Given the description of an element on the screen output the (x, y) to click on. 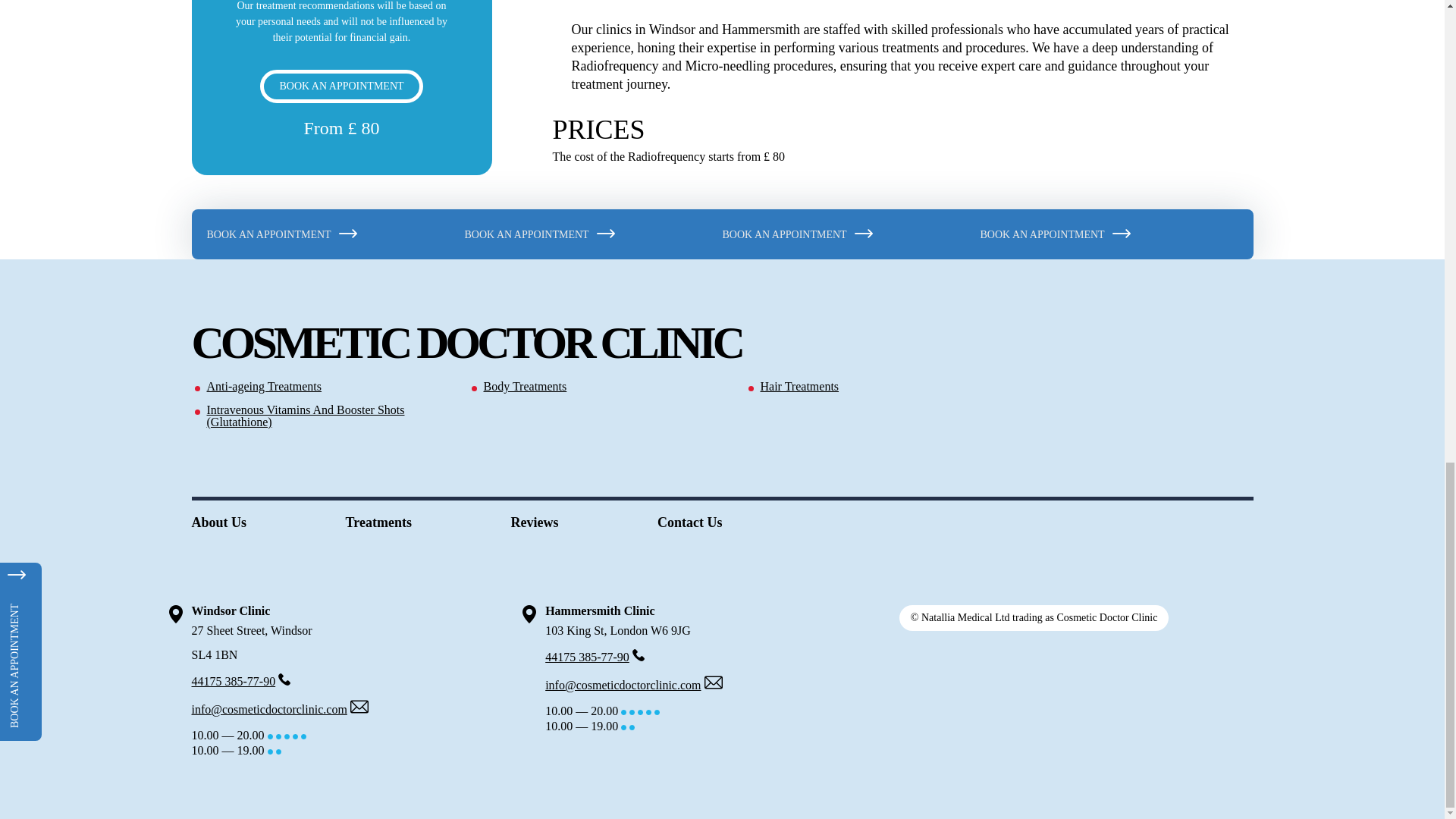
Contact Us (690, 522)
About Us (218, 522)
Anti-ageing Treatments (325, 386)
44175 385-77-90 (586, 656)
Hair Treatments (879, 386)
Treatments (379, 522)
Body Treatments (602, 386)
44175 385-77-90 (232, 680)
Reviews (534, 522)
